Given the description of an element on the screen output the (x, y) to click on. 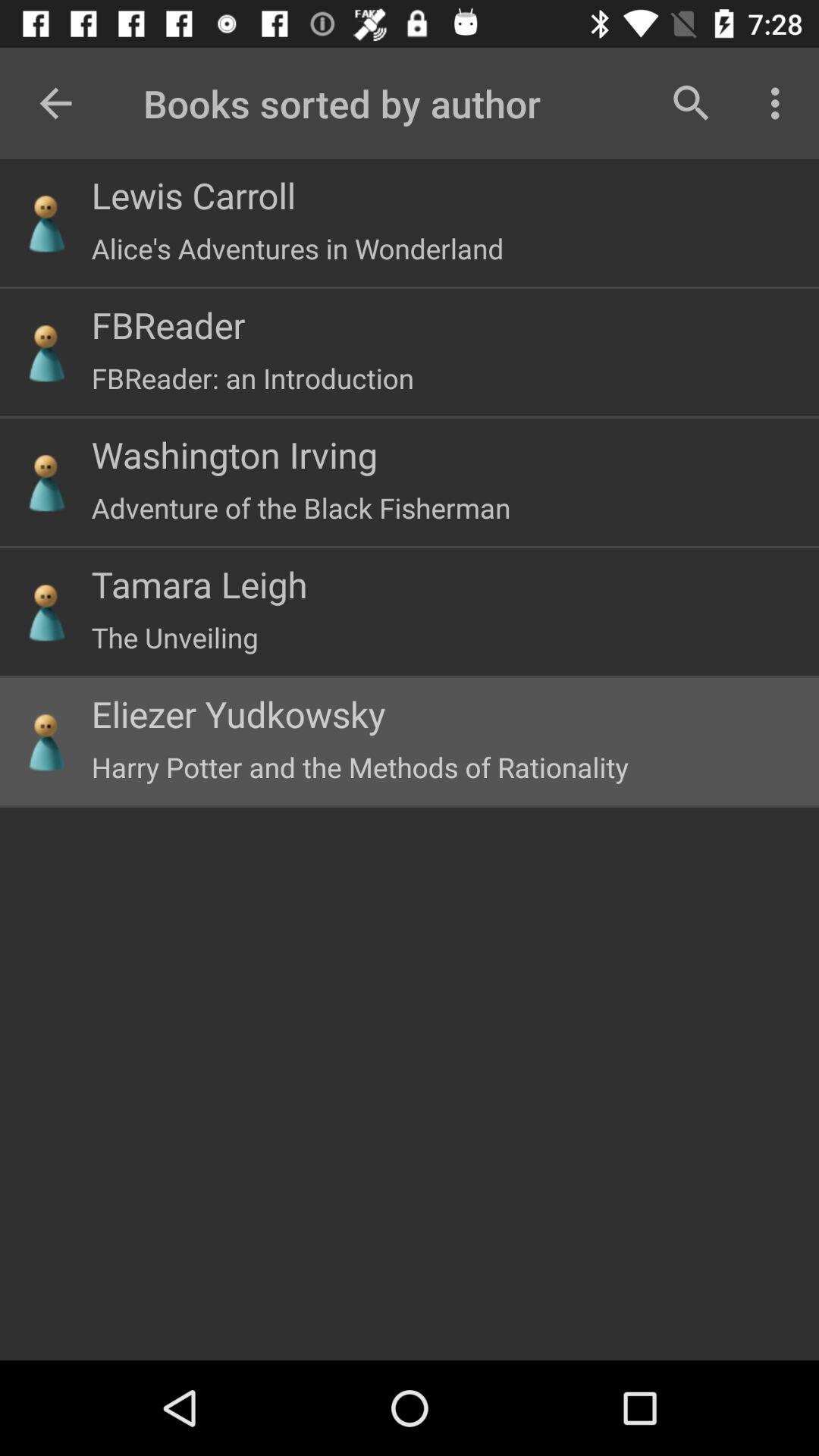
press the item to the right of books sorted by icon (691, 103)
